Given the description of an element on the screen output the (x, y) to click on. 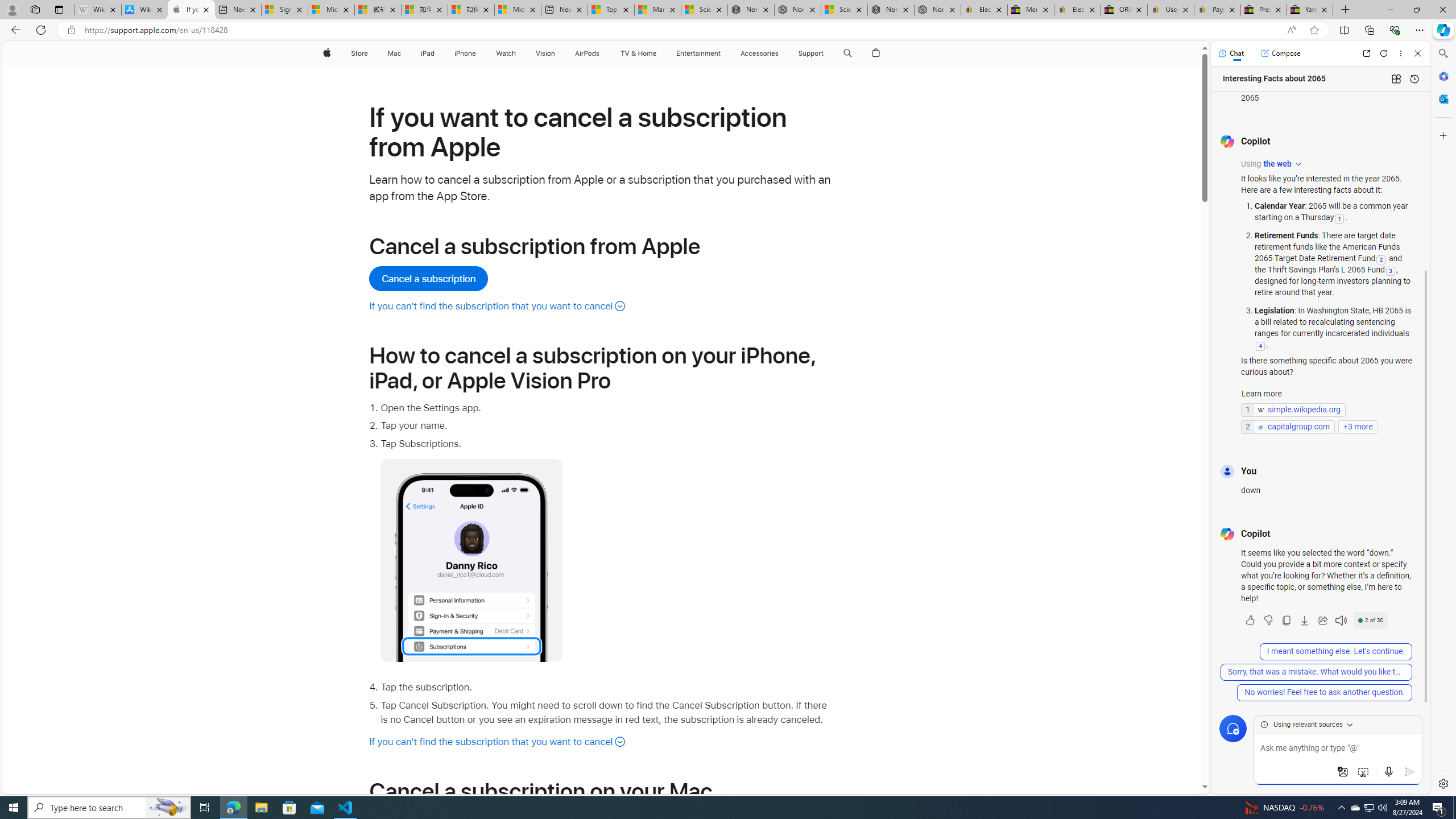
iPhone (464, 53)
Support (810, 53)
AirPods (587, 53)
Vision (545, 53)
Class: globalnav-submenu-trigger-item (825, 53)
Accessories menu (780, 53)
Nordace - FAQ (937, 9)
